Given the description of an element on the screen output the (x, y) to click on. 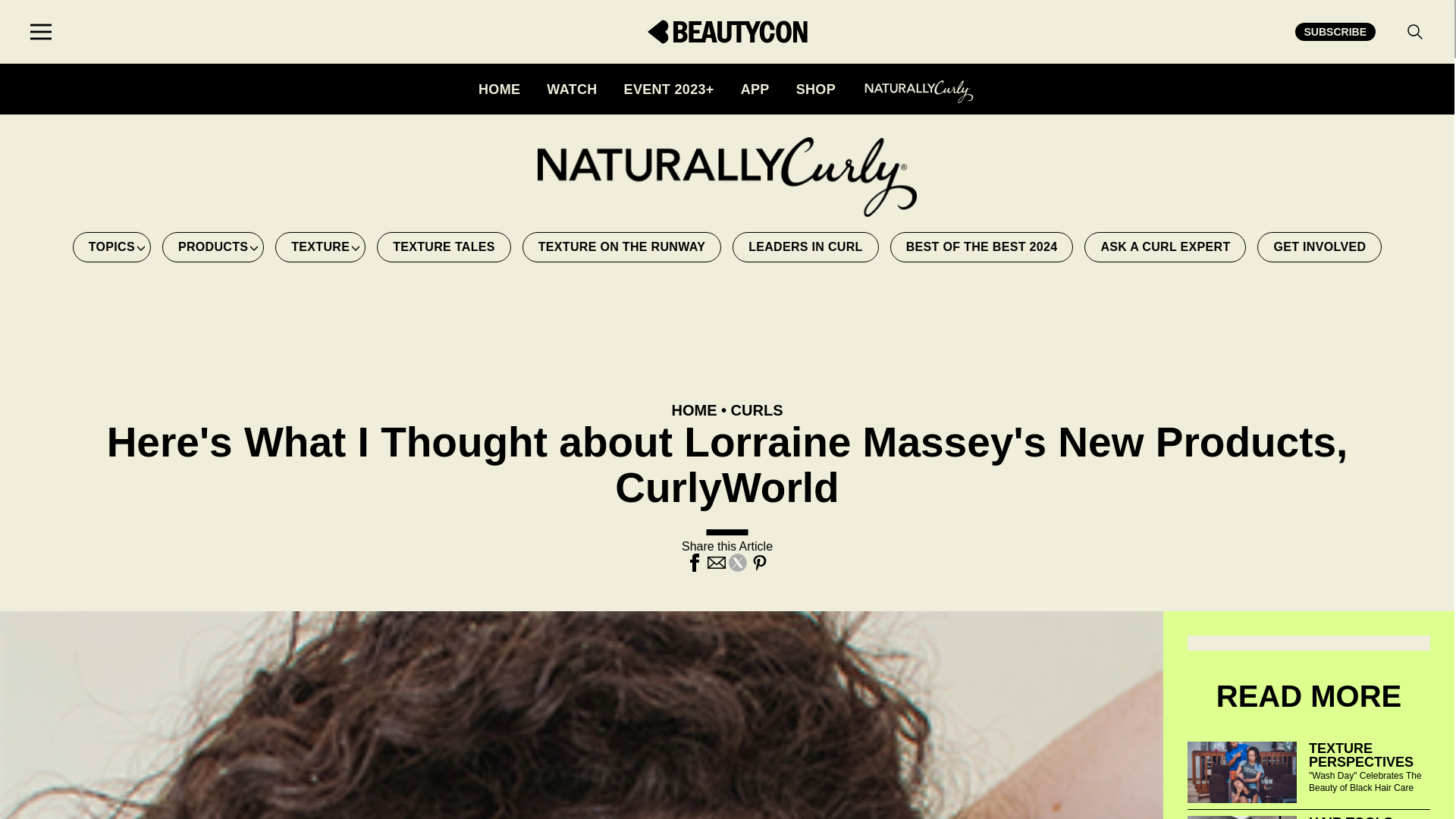
WATCH (571, 88)
SUBSCRIBE (1335, 31)
EVENT 2023 (669, 88)
APP (755, 88)
TOPICS (111, 246)
SHOP (815, 88)
HOME (499, 88)
